Given the description of an element on the screen output the (x, y) to click on. 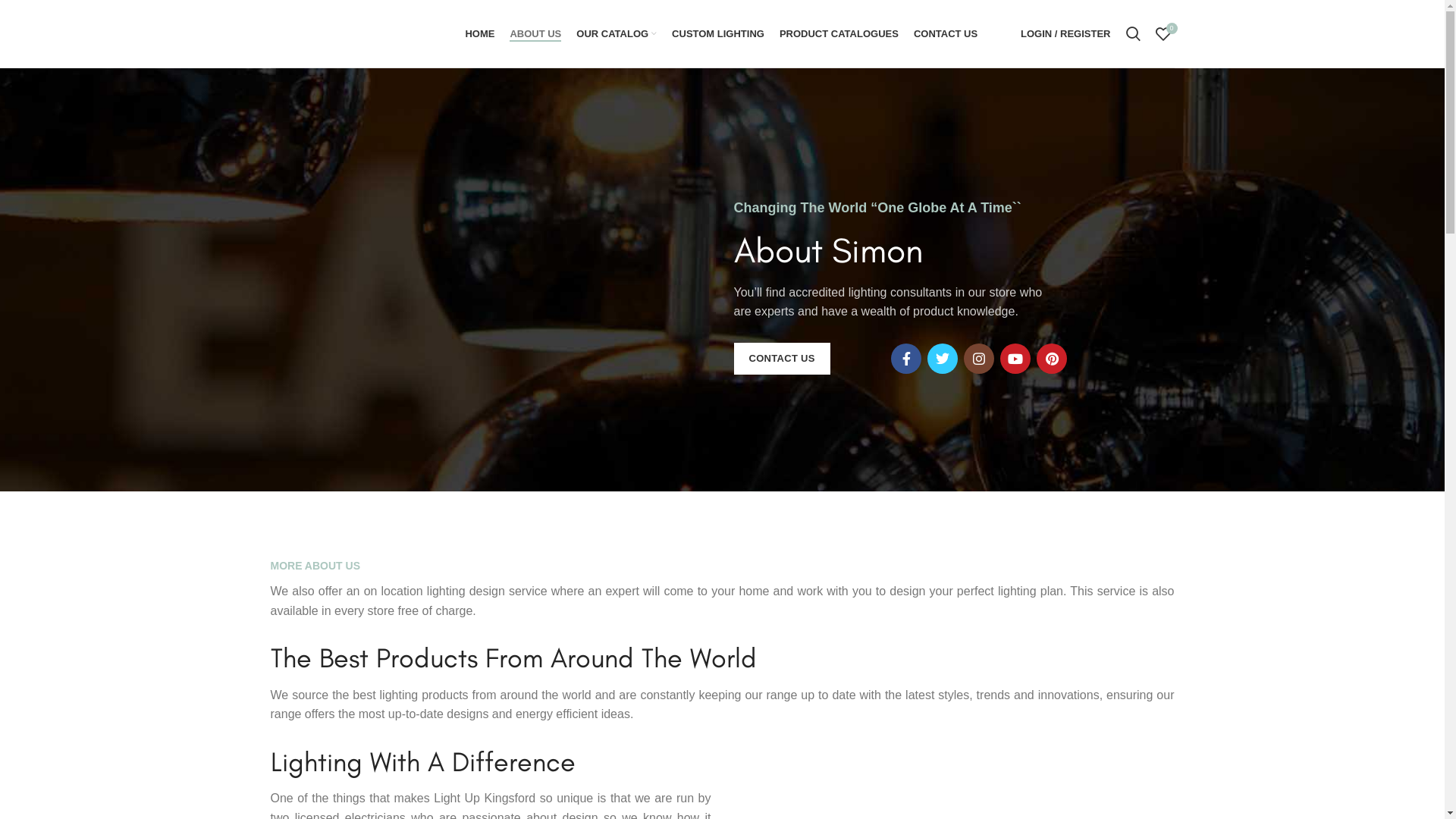
ABOUT US Element type: text (535, 33)
PRODUCT CATALOGUES Element type: text (838, 33)
OUR CATALOG Element type: text (616, 33)
0 Element type: text (1163, 33)
LOGIN / REGISTER Element type: text (1065, 33)
about-simon Element type: hover (585, 286)
CONTACT US Element type: text (782, 358)
Search Element type: hover (1132, 33)
CUSTOM LIGHTING Element type: text (717, 33)
CONTACT US Element type: text (945, 33)
HOME Element type: text (479, 33)
